Given the description of an element on the screen output the (x, y) to click on. 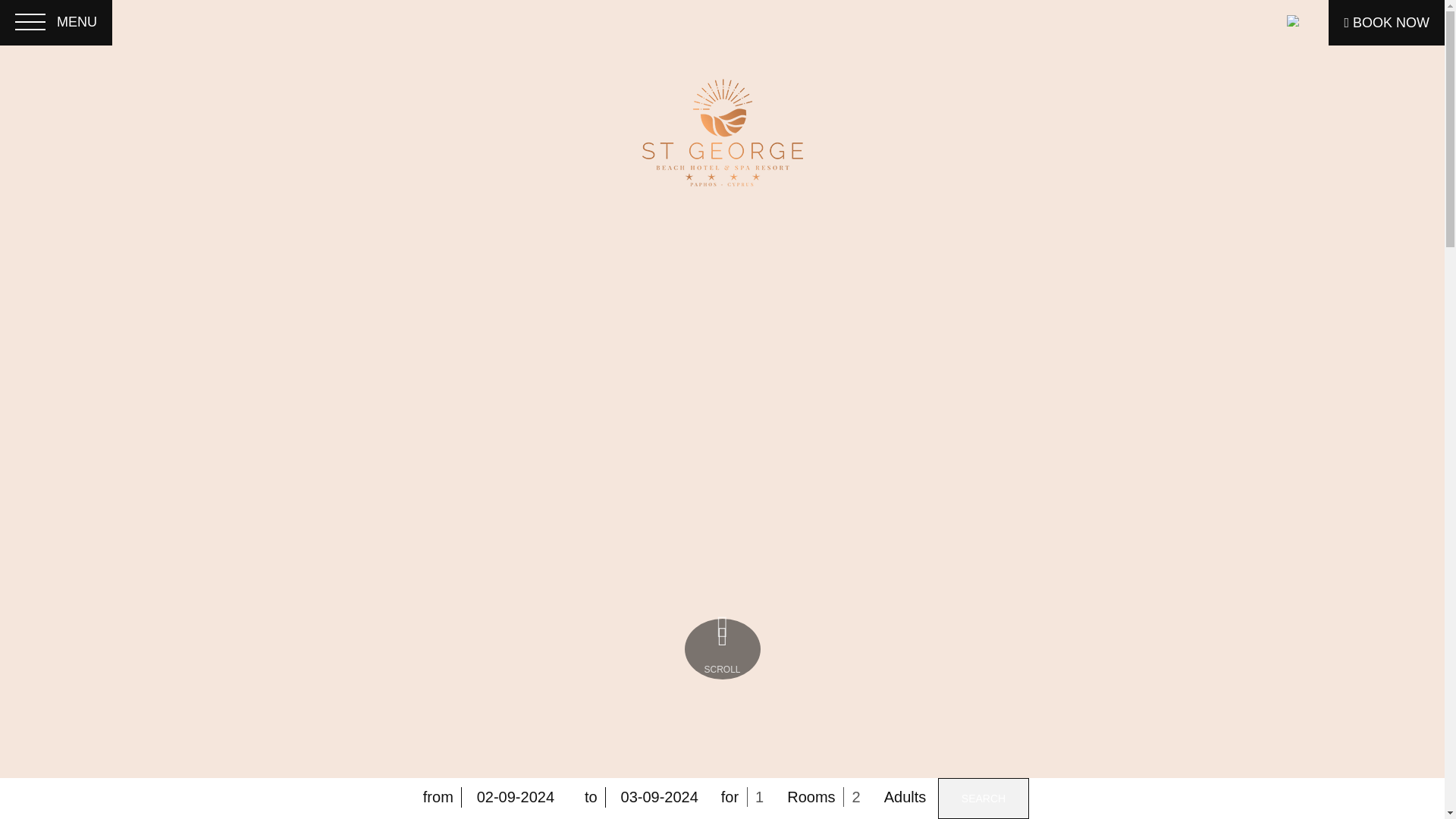
hotel in paphos - cyprus (722, 131)
02-09-2024 (515, 797)
03-09-2024 (659, 797)
Deutsch (1300, 96)
SCROLL (722, 649)
SEARCH (983, 798)
